Given the description of an element on the screen output the (x, y) to click on. 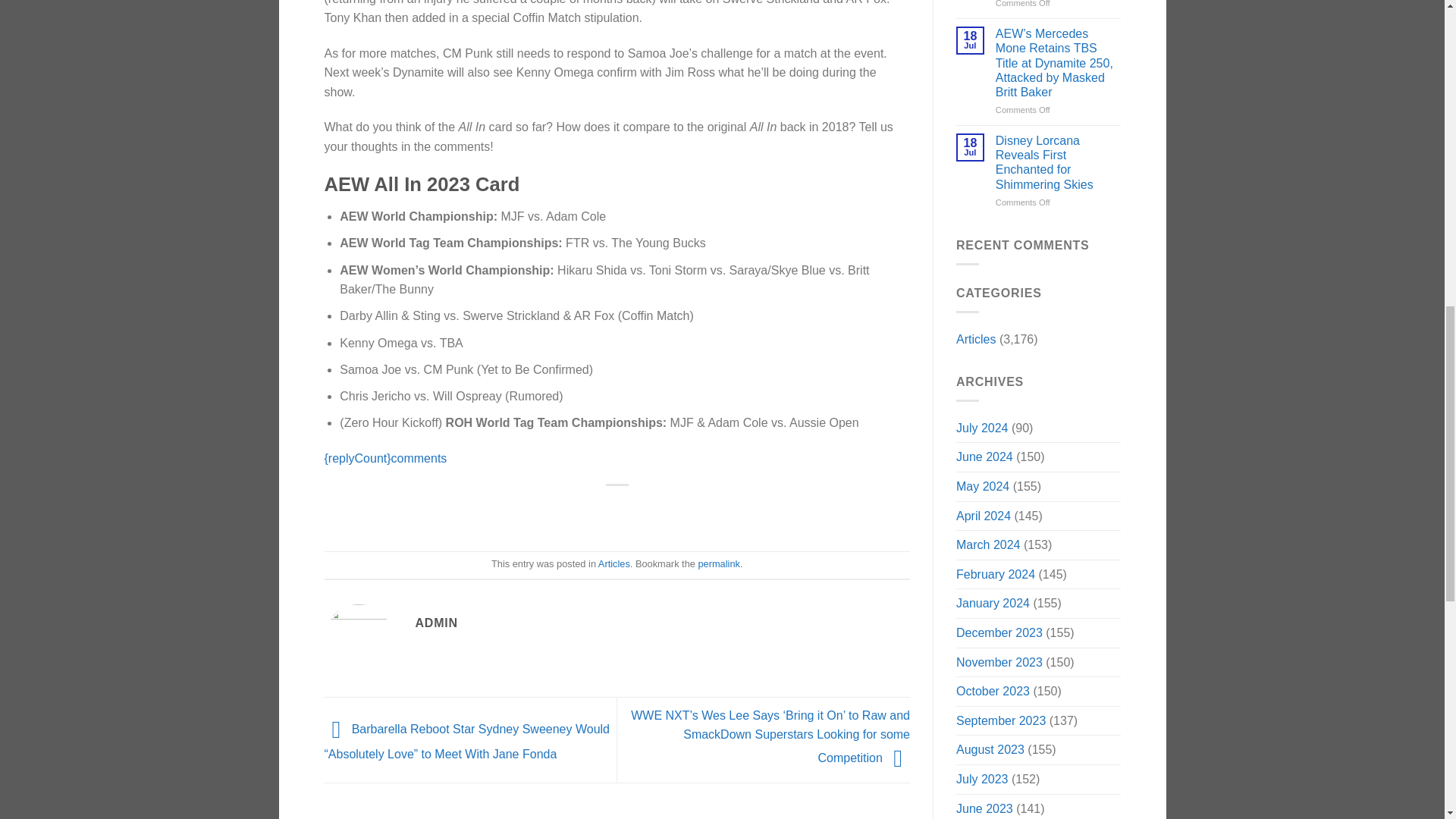
Articles (614, 563)
